Given the description of an element on the screen output the (x, y) to click on. 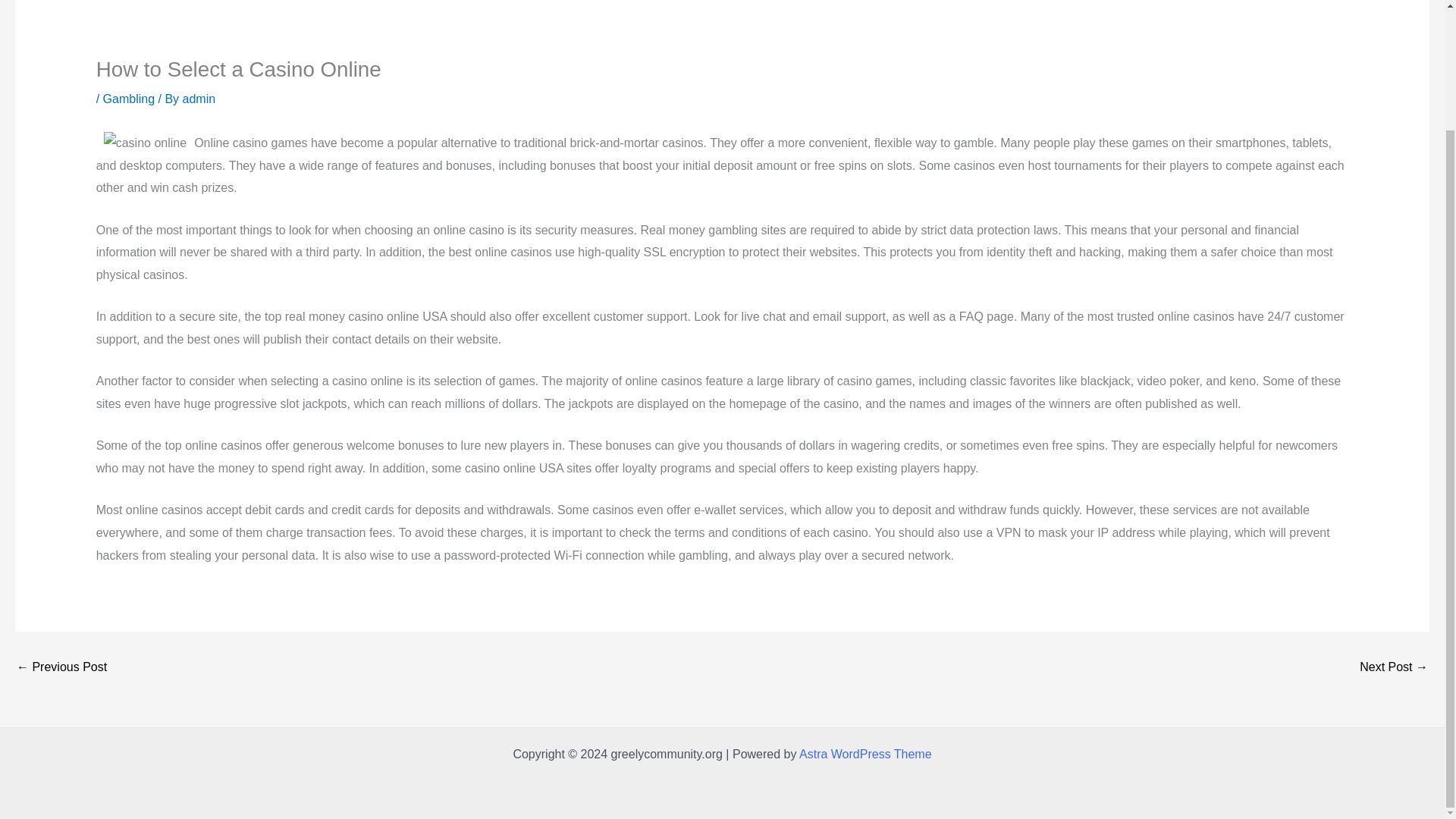
Things to Remember When Playing the Lottery (61, 666)
Astra WordPress Theme (865, 753)
View all posts by admin (199, 98)
admin (199, 98)
How to Choose a Sportsbook (1393, 666)
Gambling (128, 98)
